Given the description of an element on the screen output the (x, y) to click on. 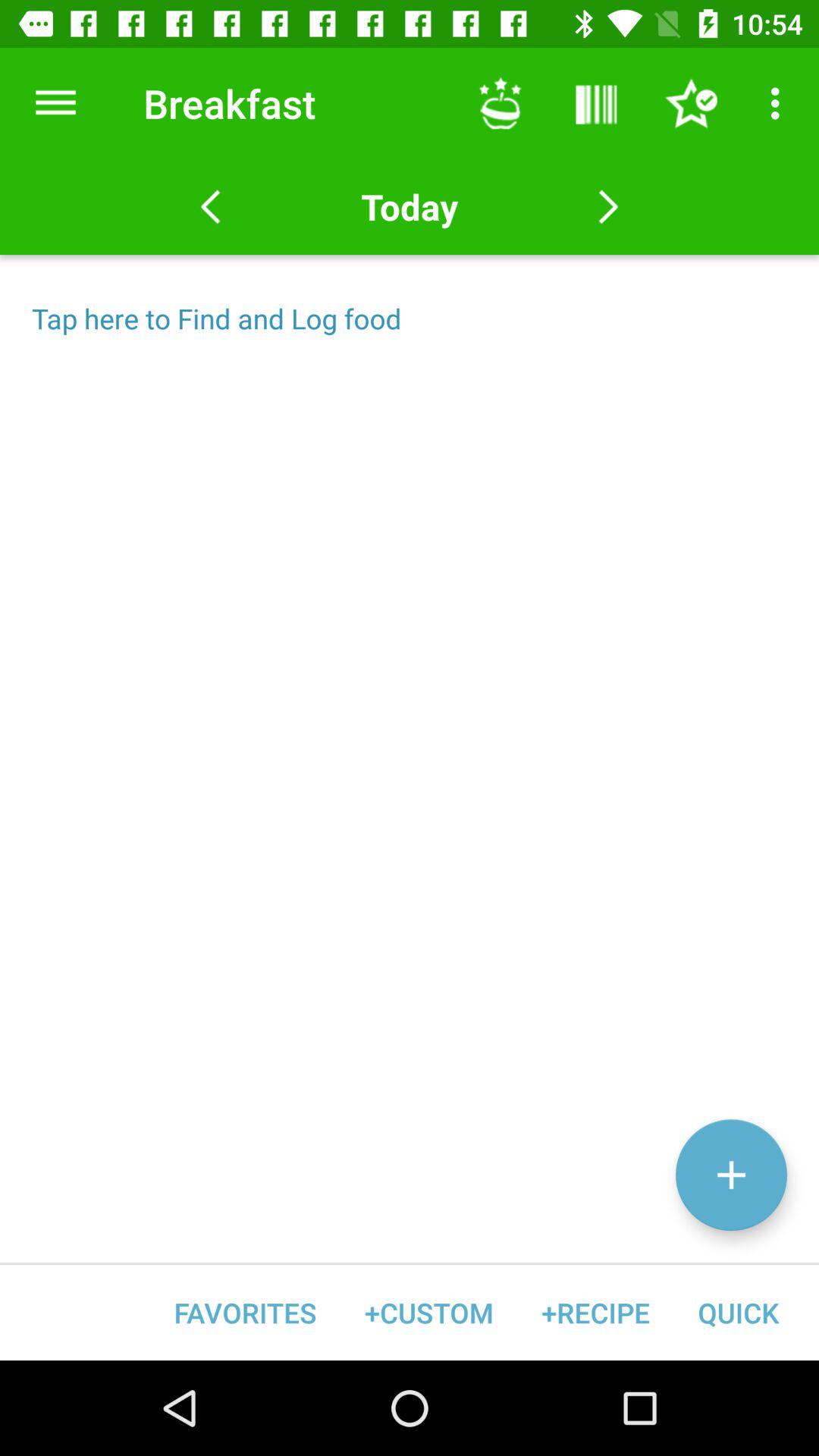
choose the icon next to +recipe (428, 1312)
